Given the description of an element on the screen output the (x, y) to click on. 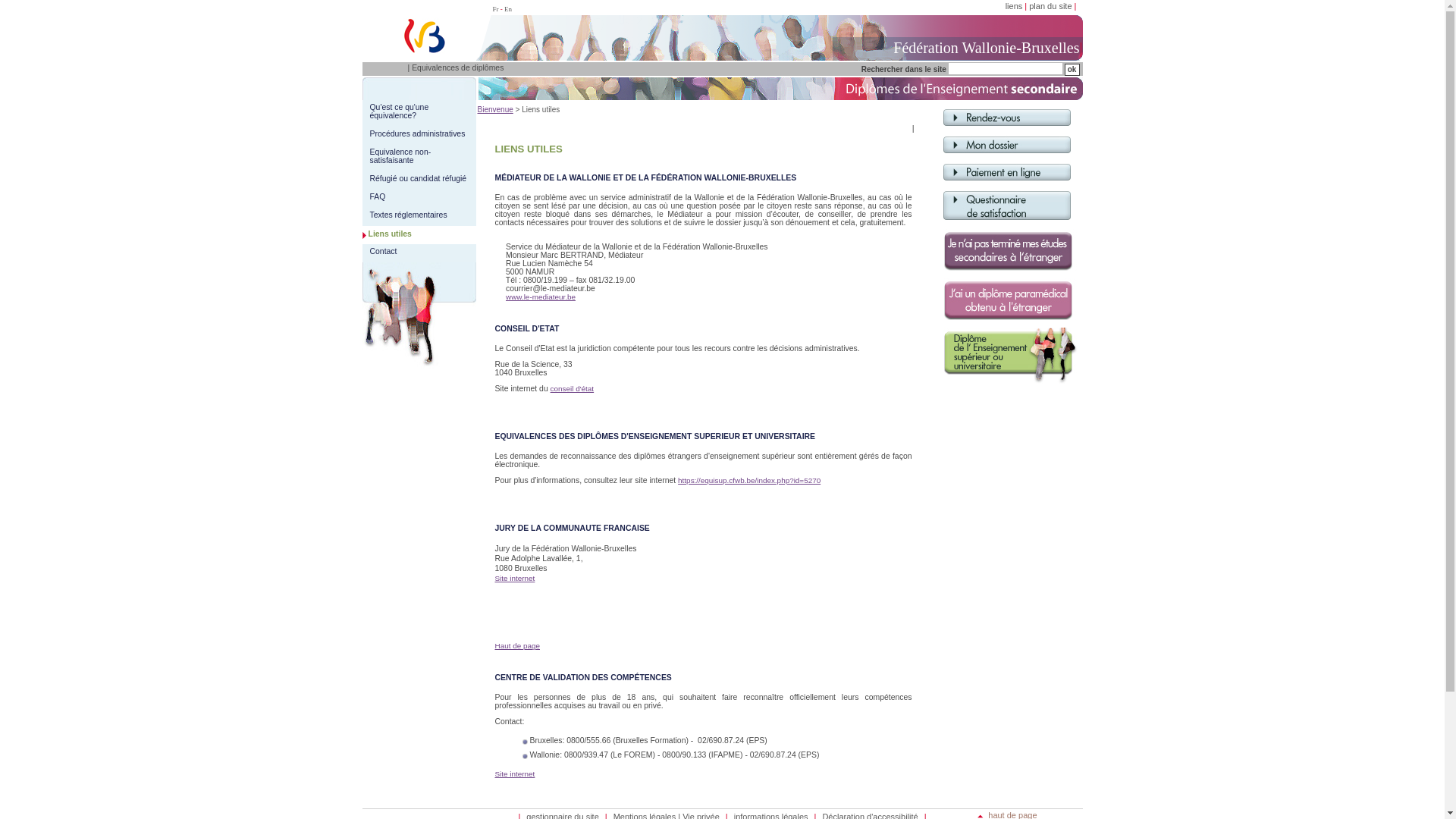
liens Element type: text (1013, 5)
Plus de choix Element type: hover (919, 127)
FAQ Element type: text (377, 196)
Contact Element type: text (383, 251)
www.le-mediateur.be Element type: text (540, 296)
rechercher Element type: hover (1071, 69)
Image d'illustration Element type: hover (419, 315)
Site internet Element type: text (514, 773)
Equivalence non-satisfaisante Element type: text (400, 155)
Faites votre paiement en ligne Element type: hover (1006, 186)
Haut de page Element type: text (516, 645)
Fr Element type: text (495, 8)
ok Element type: text (1071, 69)
https://equisup.cfwb.be/index.php?id=5270 Element type: text (748, 480)
plan du site Element type: text (1050, 5)
Site internet Element type: text (514, 578)
Bienvenue Element type: text (495, 109)
En Element type: text (507, 8)
